Given the description of an element on the screen output the (x, y) to click on. 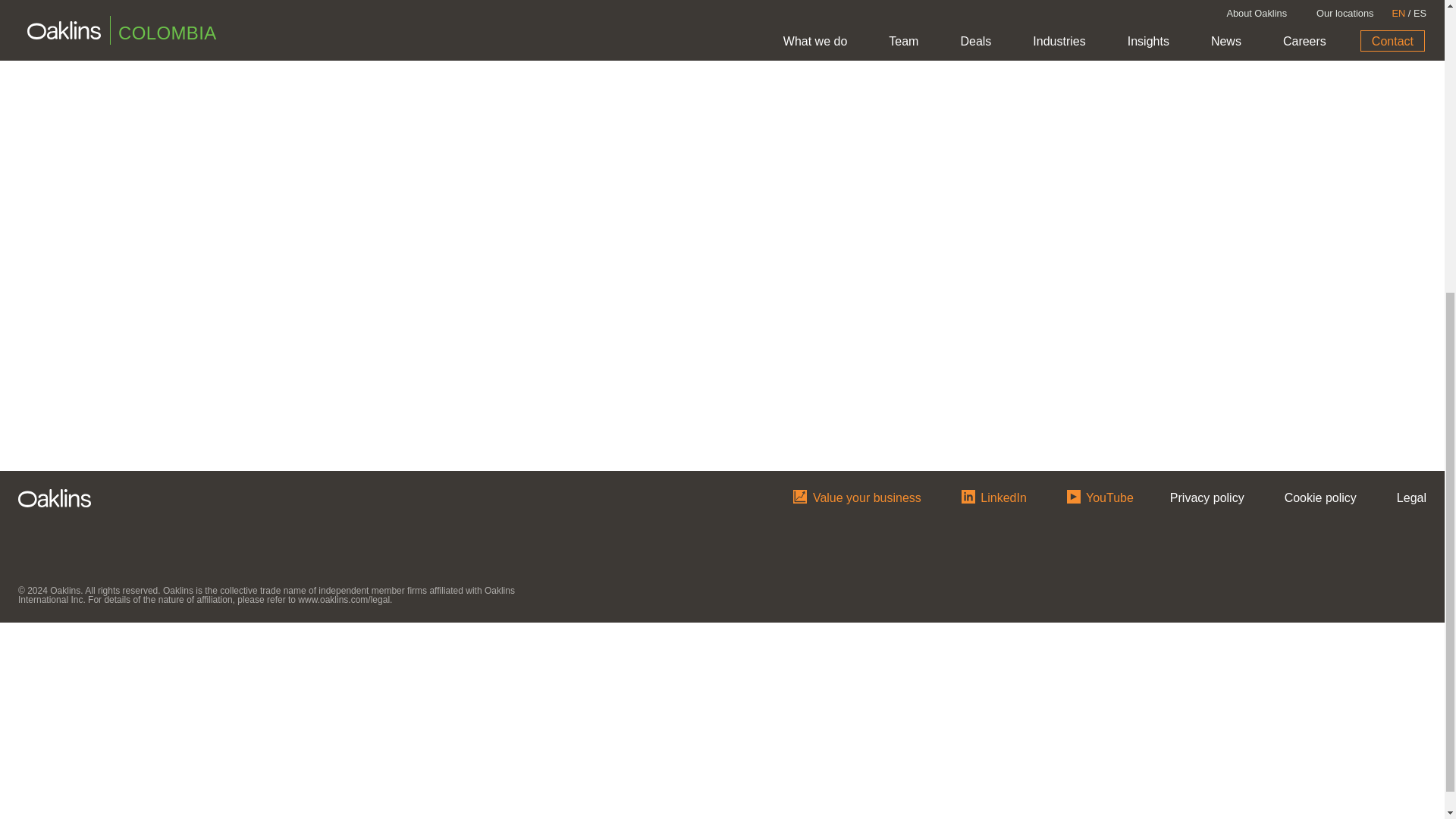
Privacy policy (1207, 495)
Value your business (856, 495)
YouTube (1100, 495)
LinkedIn (993, 495)
Legal (1411, 495)
Cookie policy (1320, 495)
